Given the description of an element on the screen output the (x, y) to click on. 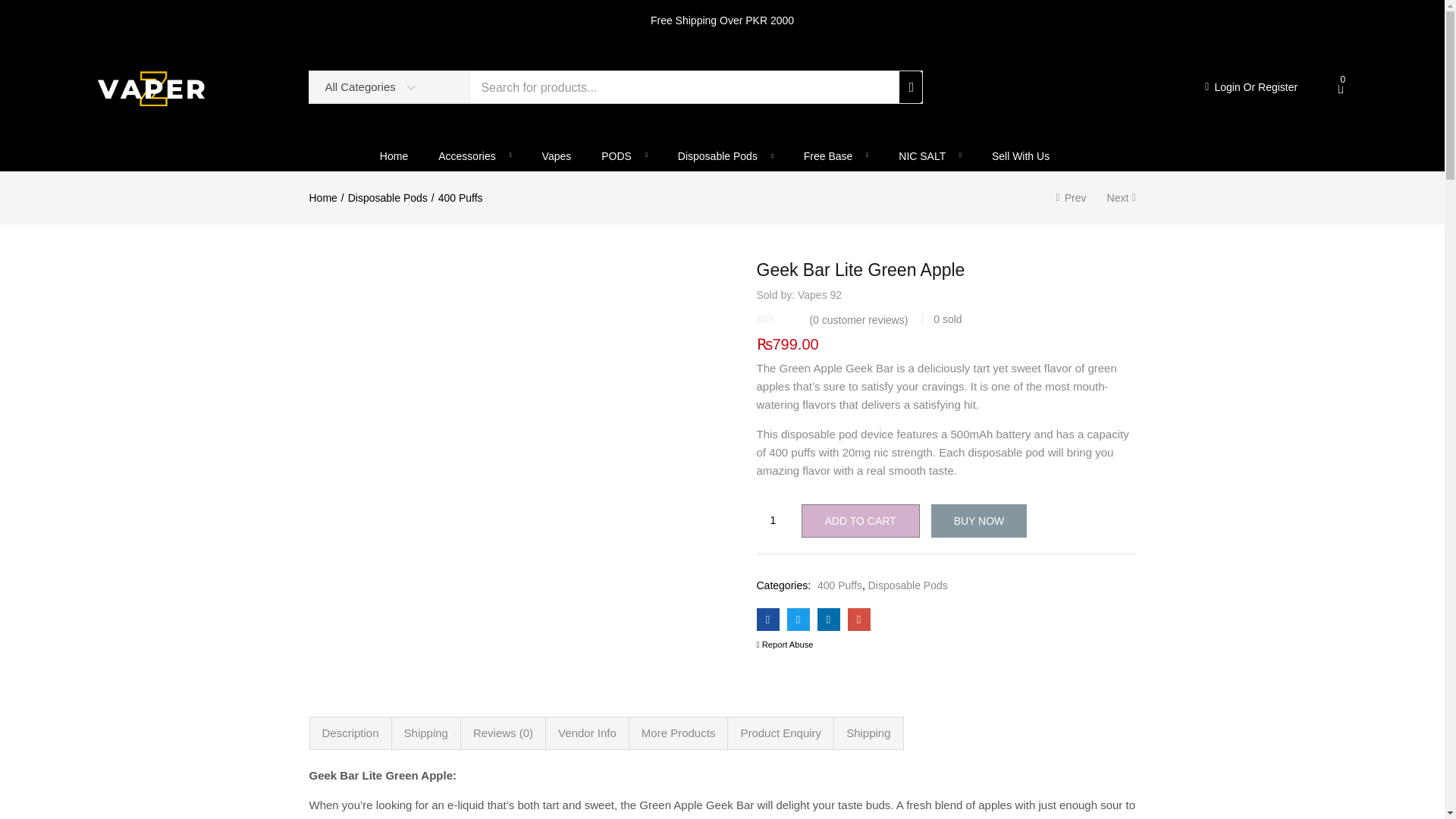
Geek Bar Lite Green Apple (858, 619)
Geek Bar Lite Green Apple (767, 619)
1 (773, 519)
Qty (773, 519)
